Given the description of an element on the screen output the (x, y) to click on. 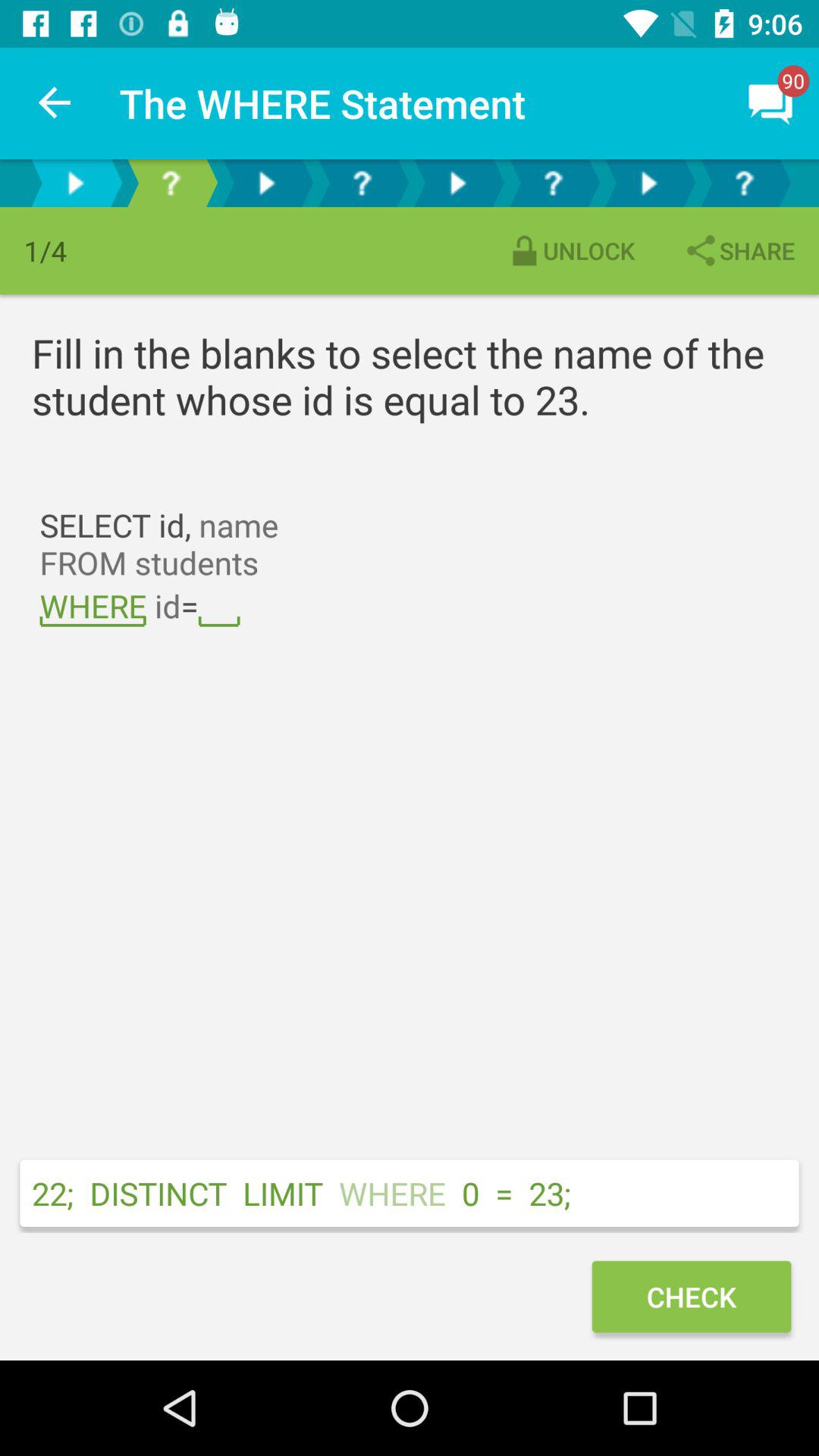
help menu (552, 183)
